Given the description of an element on the screen output the (x, y) to click on. 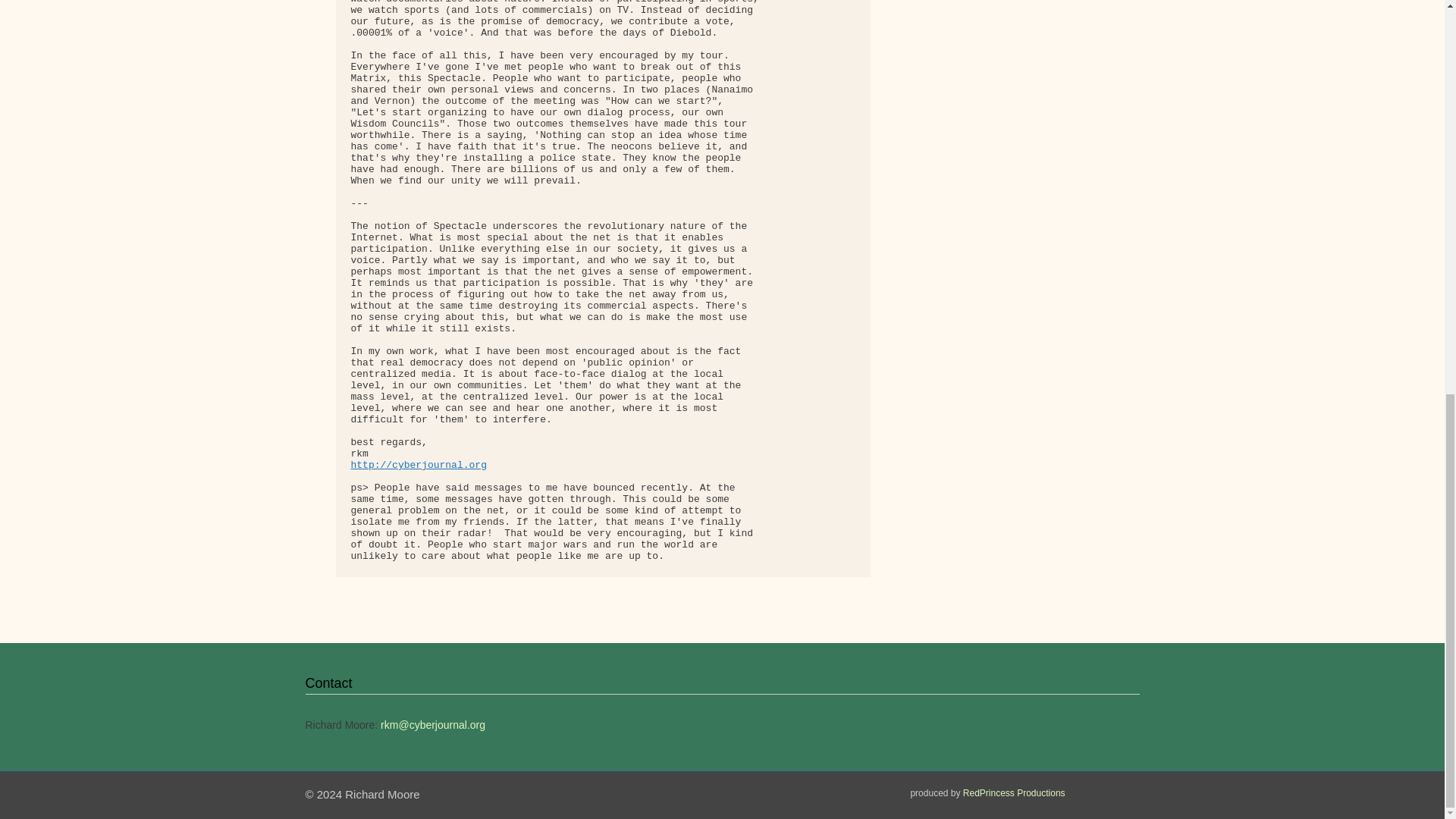
RedPrincess Productions (1013, 792)
